Given the description of an element on the screen output the (x, y) to click on. 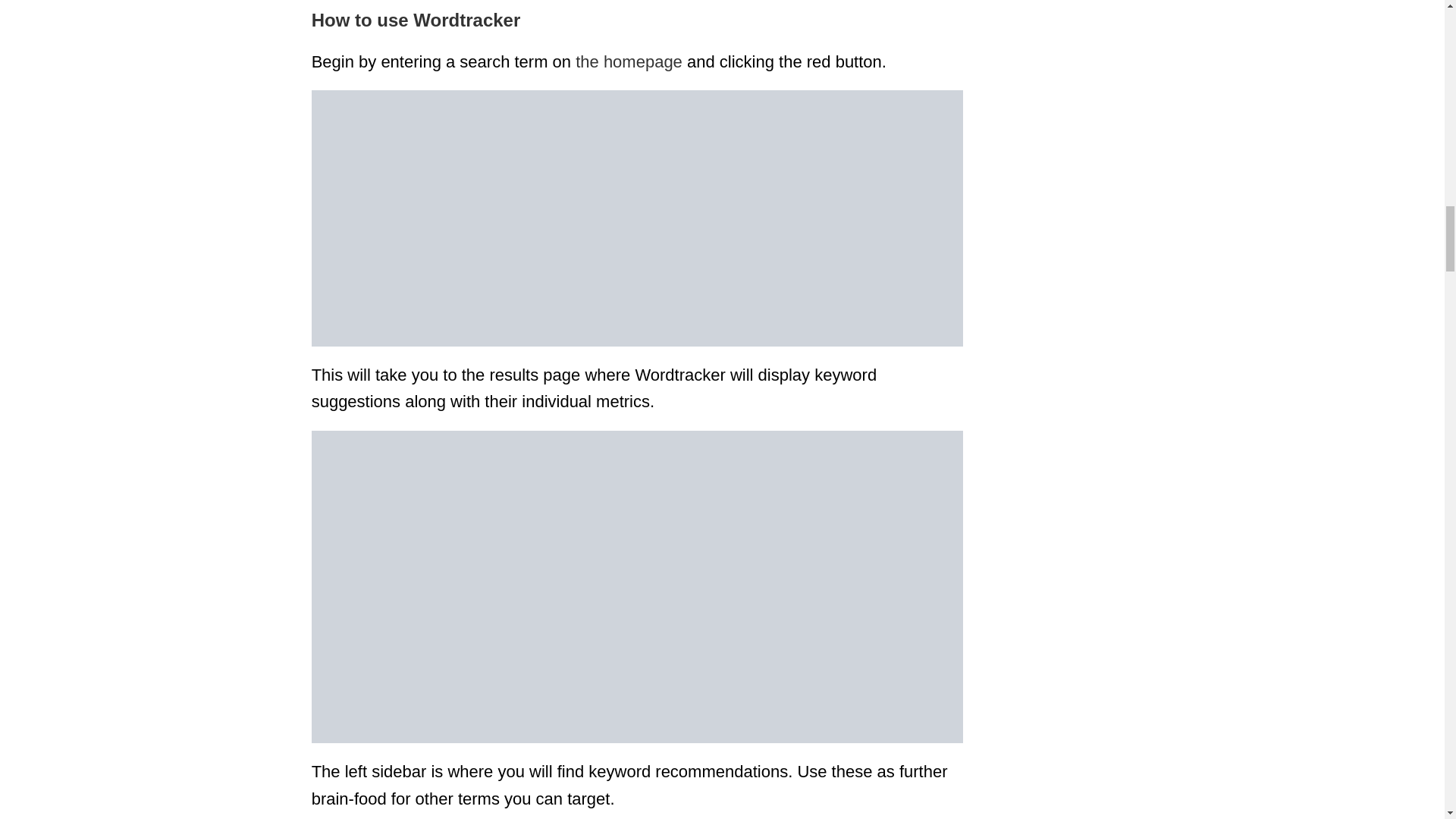
the homepage (628, 60)
